Given the description of an element on the screen output the (x, y) to click on. 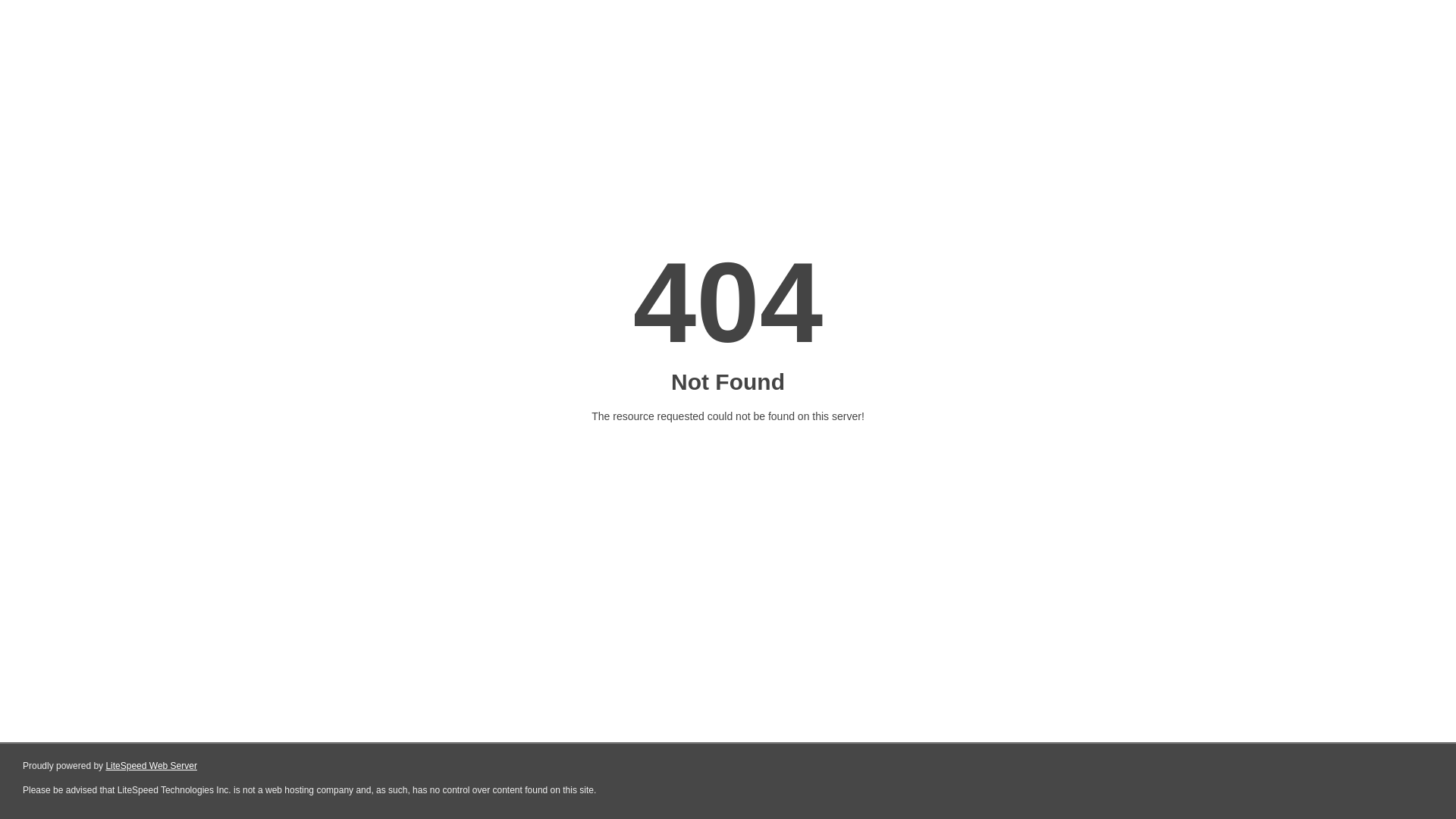
LiteSpeed Web Server Element type: text (151, 765)
